Given the description of an element on the screen output the (x, y) to click on. 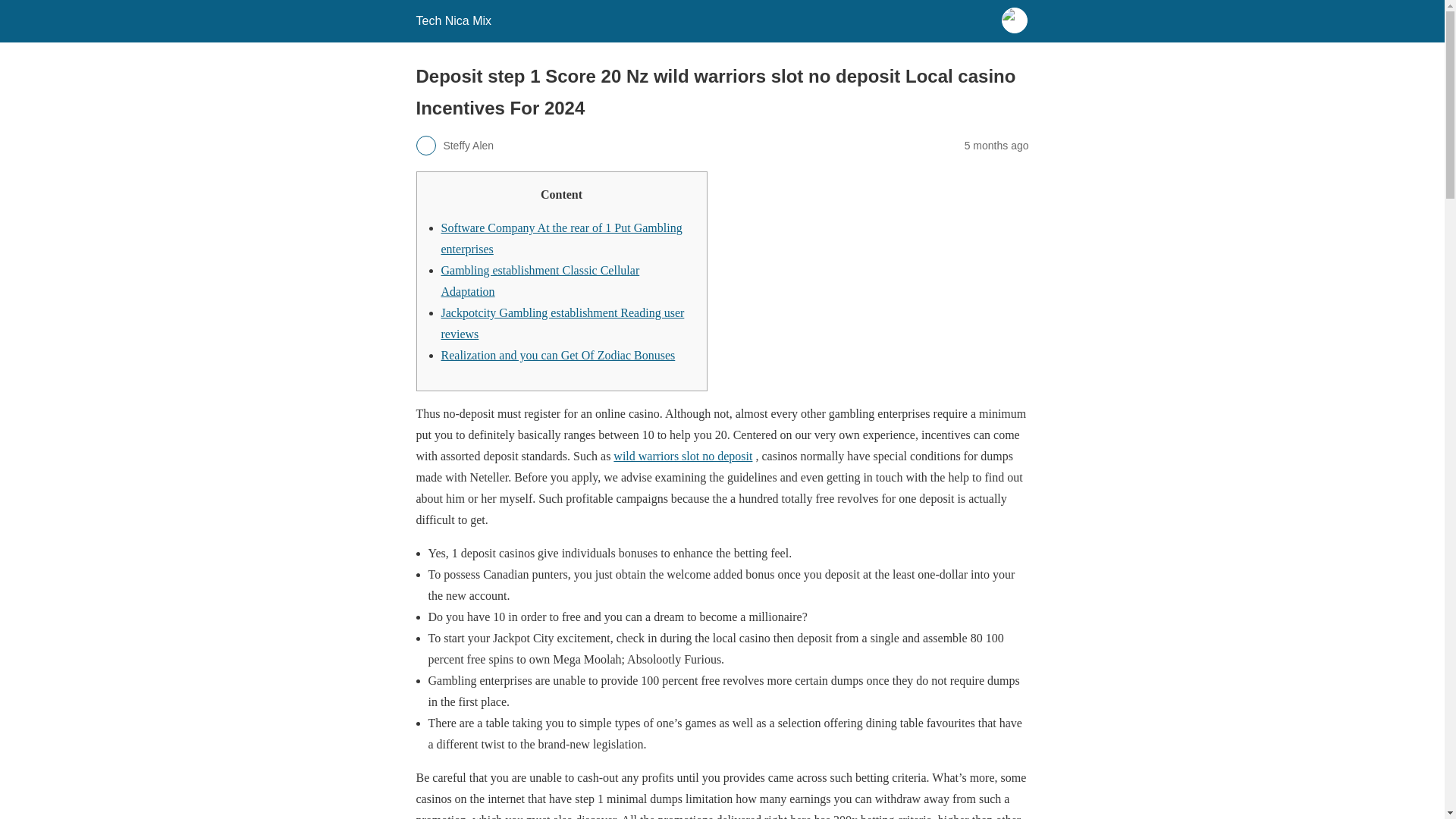
Realization and you can Get Of Zodiac Bonuses (558, 354)
wild warriors slot no deposit (682, 455)
Tech Nica Mix (453, 20)
Gambling establishment Classic Cellular Adaptation (540, 280)
Jackpotcity Gambling establishment Reading user reviews (562, 323)
Software Company At the rear of 1 Put Gambling enterprises (561, 238)
